Given the description of an element on the screen output the (x, y) to click on. 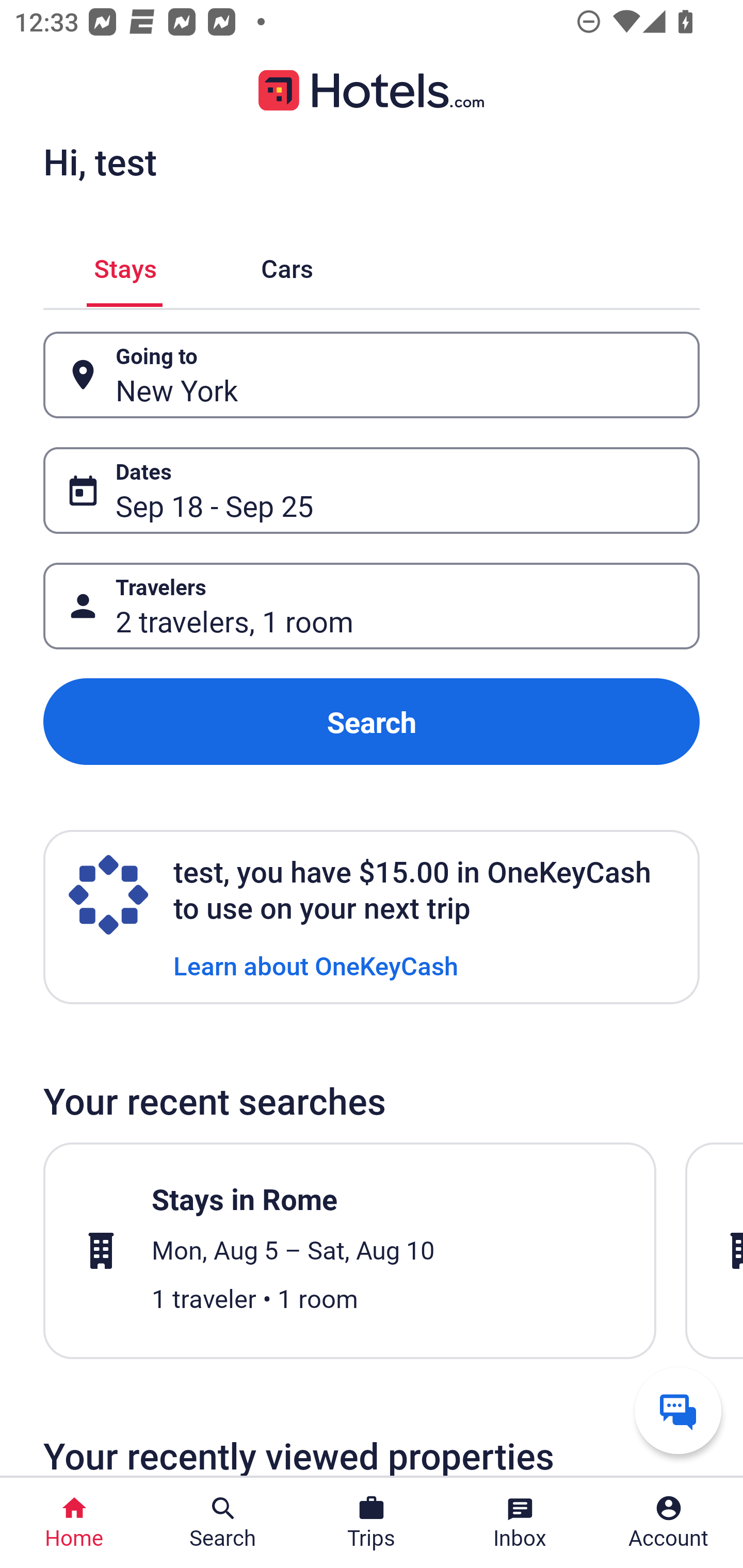
Hi, test (99, 161)
Cars (286, 265)
Going to Button New York (371, 375)
Dates Button Sep 18 - Sep 25 (371, 489)
Travelers Button 2 travelers, 1 room (371, 605)
Search (371, 721)
Learn about OneKeyCash Learn about OneKeyCash Link (315, 964)
Get help from a virtual agent (677, 1410)
Search Search Button (222, 1522)
Trips Trips Button (371, 1522)
Inbox Inbox Button (519, 1522)
Account Profile. Button (668, 1522)
